Given the description of an element on the screen output the (x, y) to click on. 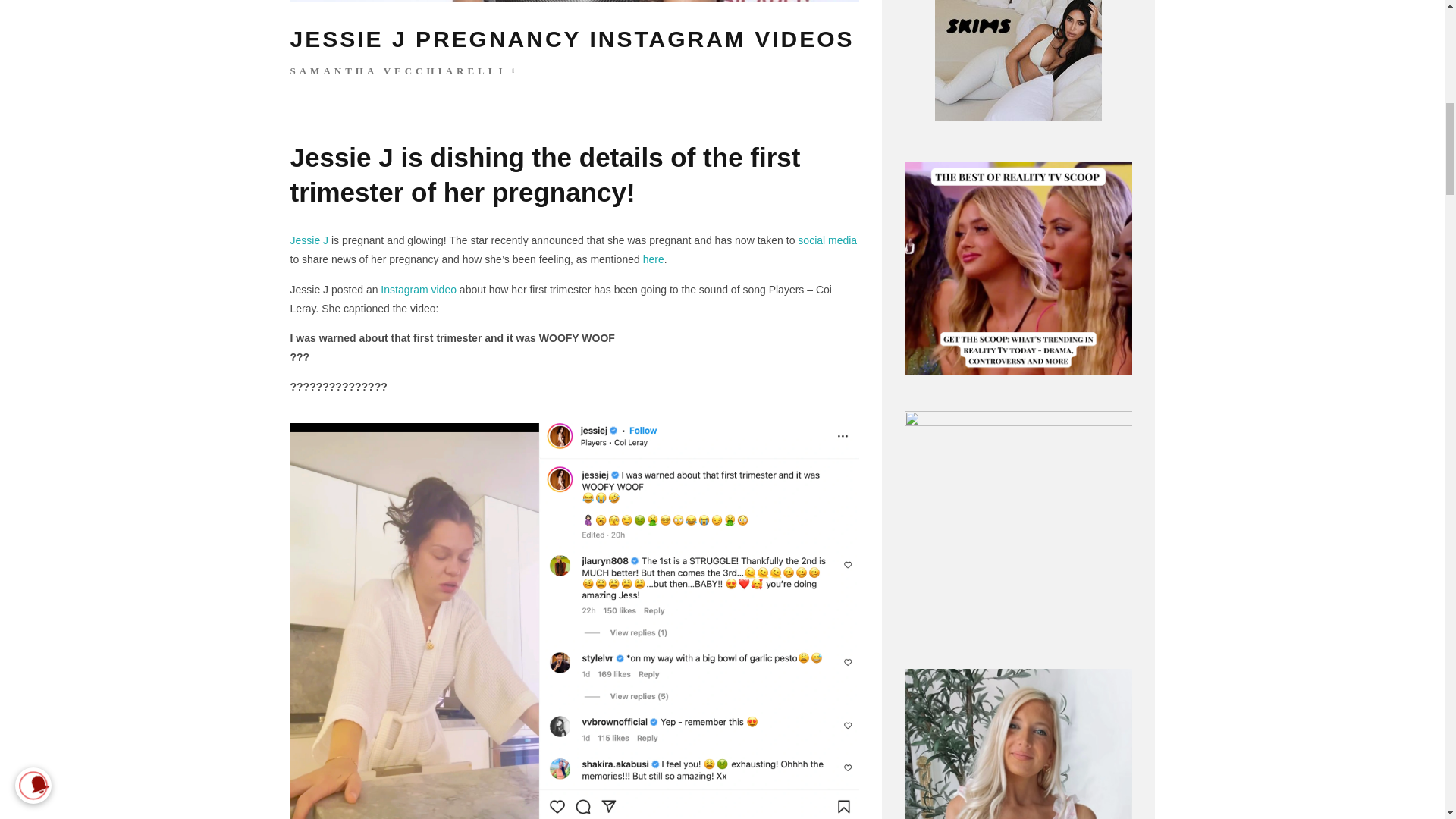
Grammy 2022: The Winners (309, 240)
